Given the description of an element on the screen output the (x, y) to click on. 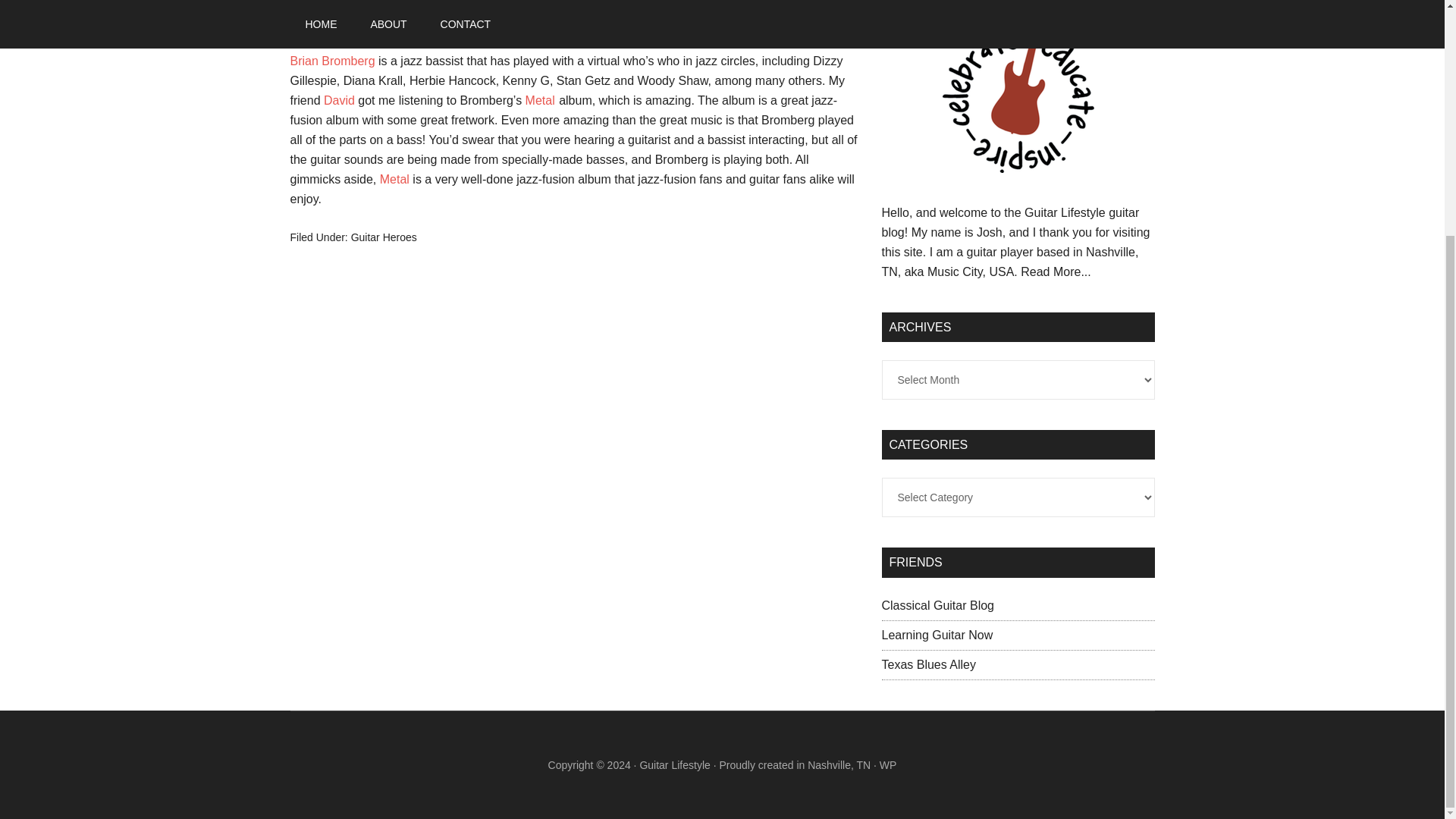
WP (887, 765)
Brian Bromberg (331, 60)
Read More... (1055, 271)
Guitar Lifestyle (674, 765)
David (339, 100)
Brian Bromberg (331, 60)
Metal (539, 100)
David's Web site (339, 100)
Metal (394, 178)
Metal (394, 178)
Josh (404, 19)
Metal (539, 100)
Texas Blues Alley (927, 664)
Guitar Heroes (383, 236)
Classical Guitar Blog (937, 604)
